Given the description of an element on the screen output the (x, y) to click on. 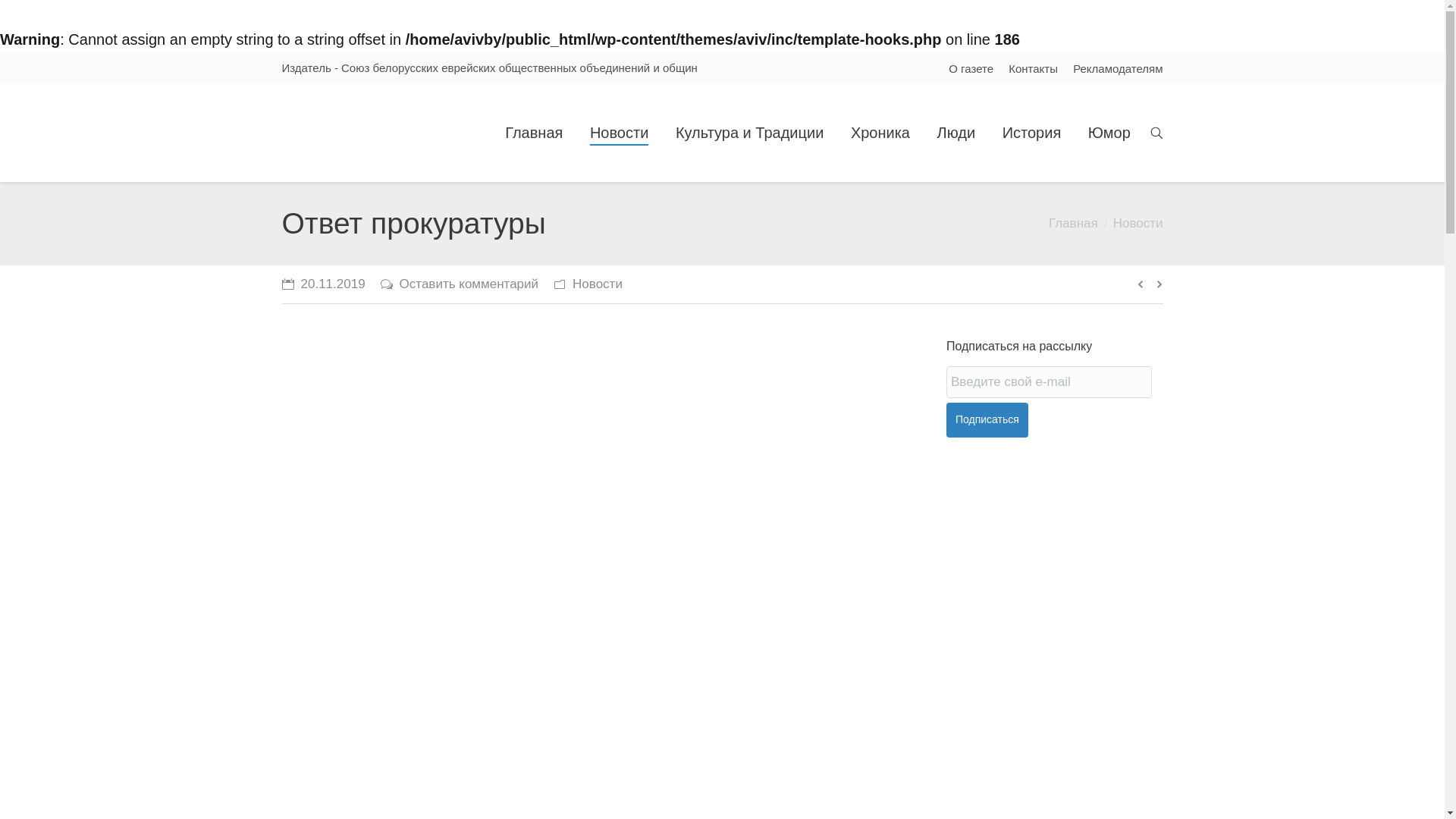
Go! Element type: text (17, 12)
20.11.2019 Element type: text (323, 284)
  Element type: text (1156, 132)
